Given the description of an element on the screen output the (x, y) to click on. 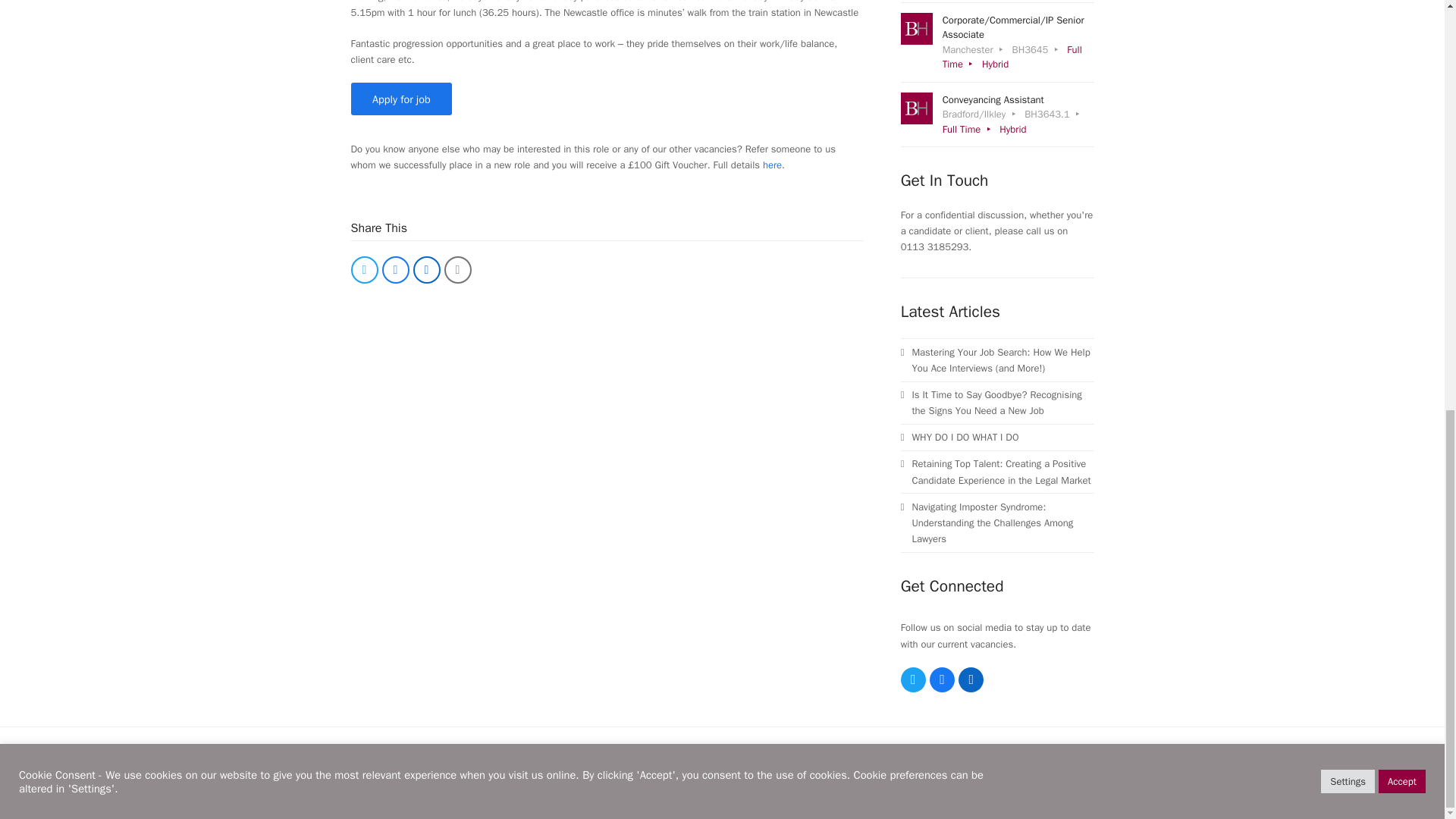
here (771, 164)
LinkedIn (971, 679)
Twitter (913, 679)
Apply for job (400, 98)
Share on Facebook (395, 269)
WHY DO I DO WHAT I DO (997, 437)
Share on Twitter (363, 269)
Share on LinkedIn (425, 269)
Facebook (942, 679)
